Given the description of an element on the screen output the (x, y) to click on. 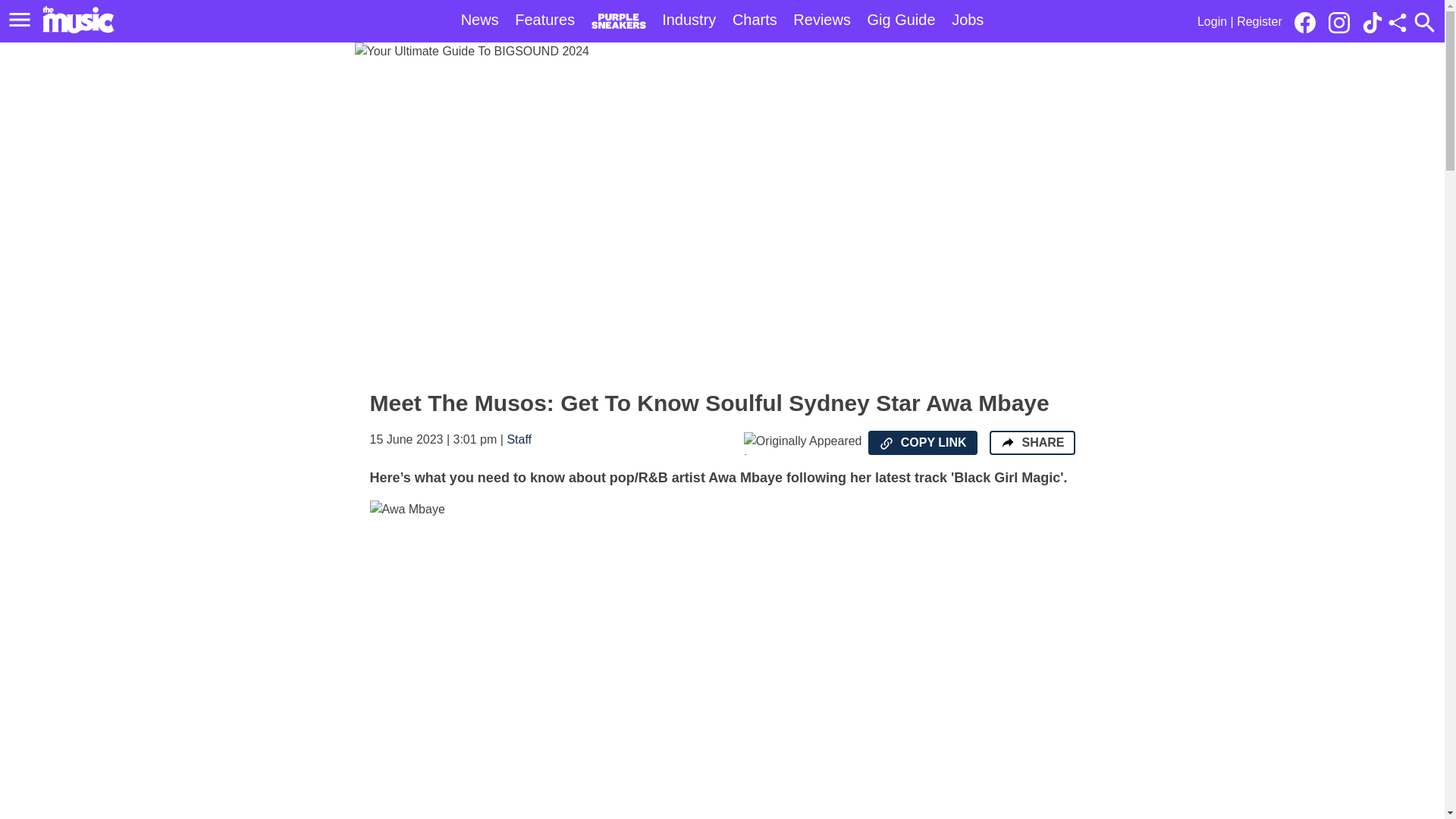
Open the site search menu (1424, 22)
News (480, 19)
Link to our TikTok (1372, 21)
Share this page (1397, 22)
Gig Guide (901, 19)
Charts (754, 19)
Staff (518, 439)
Copy the page URL COPY LINK (921, 442)
Link to our Instagram (1342, 21)
Share the page (1007, 441)
